Given the description of an element on the screen output the (x, y) to click on. 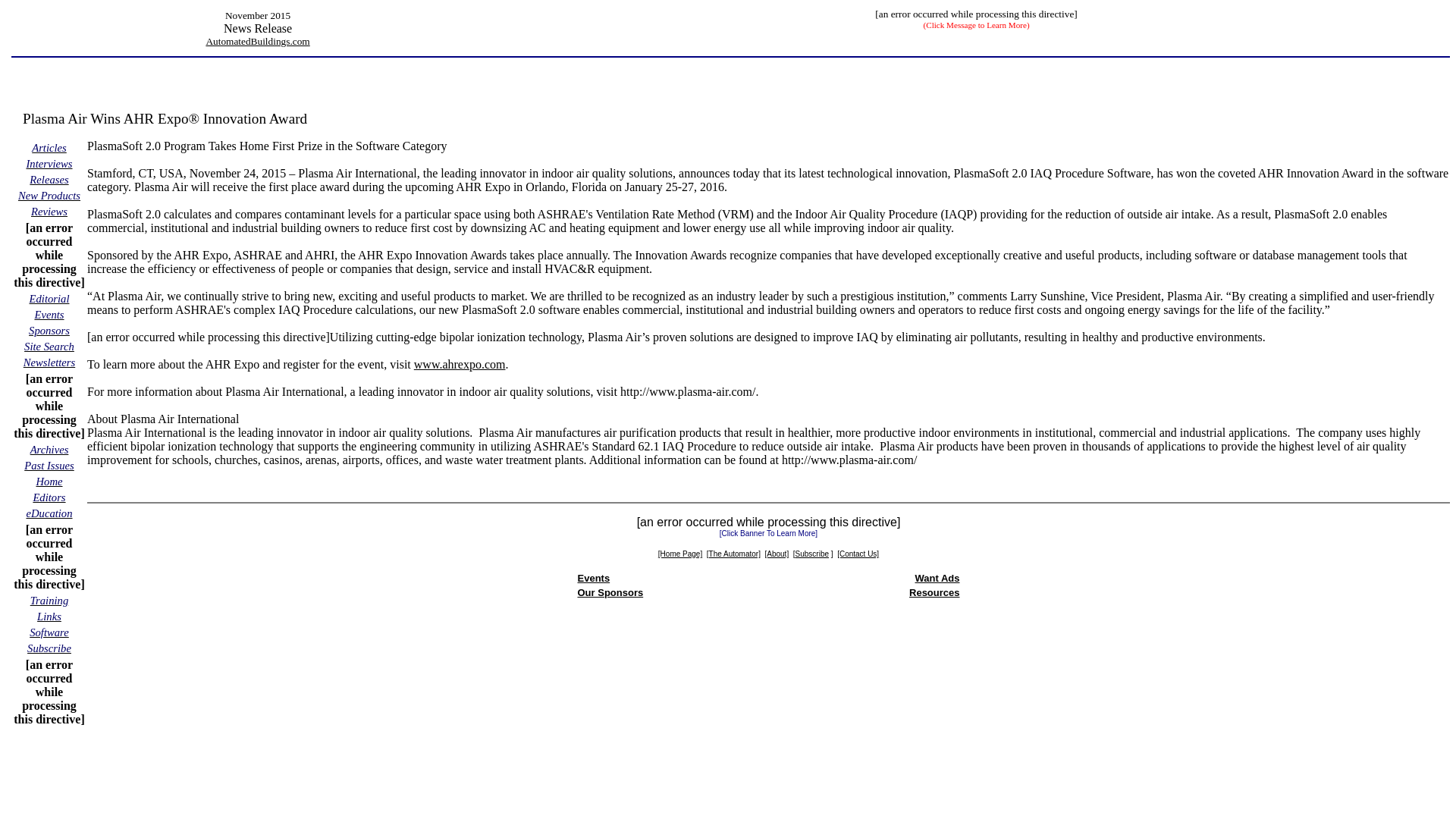
Resources (933, 592)
Subscribe (49, 647)
Sponsors (49, 329)
www.ahrexpo.com (459, 364)
Advertisement (768, 639)
AutomatedBuildings.com (256, 41)
Our Sponsors (610, 592)
Training (49, 599)
eDucation (48, 512)
Editors (48, 496)
